Given the description of an element on the screen output the (x, y) to click on. 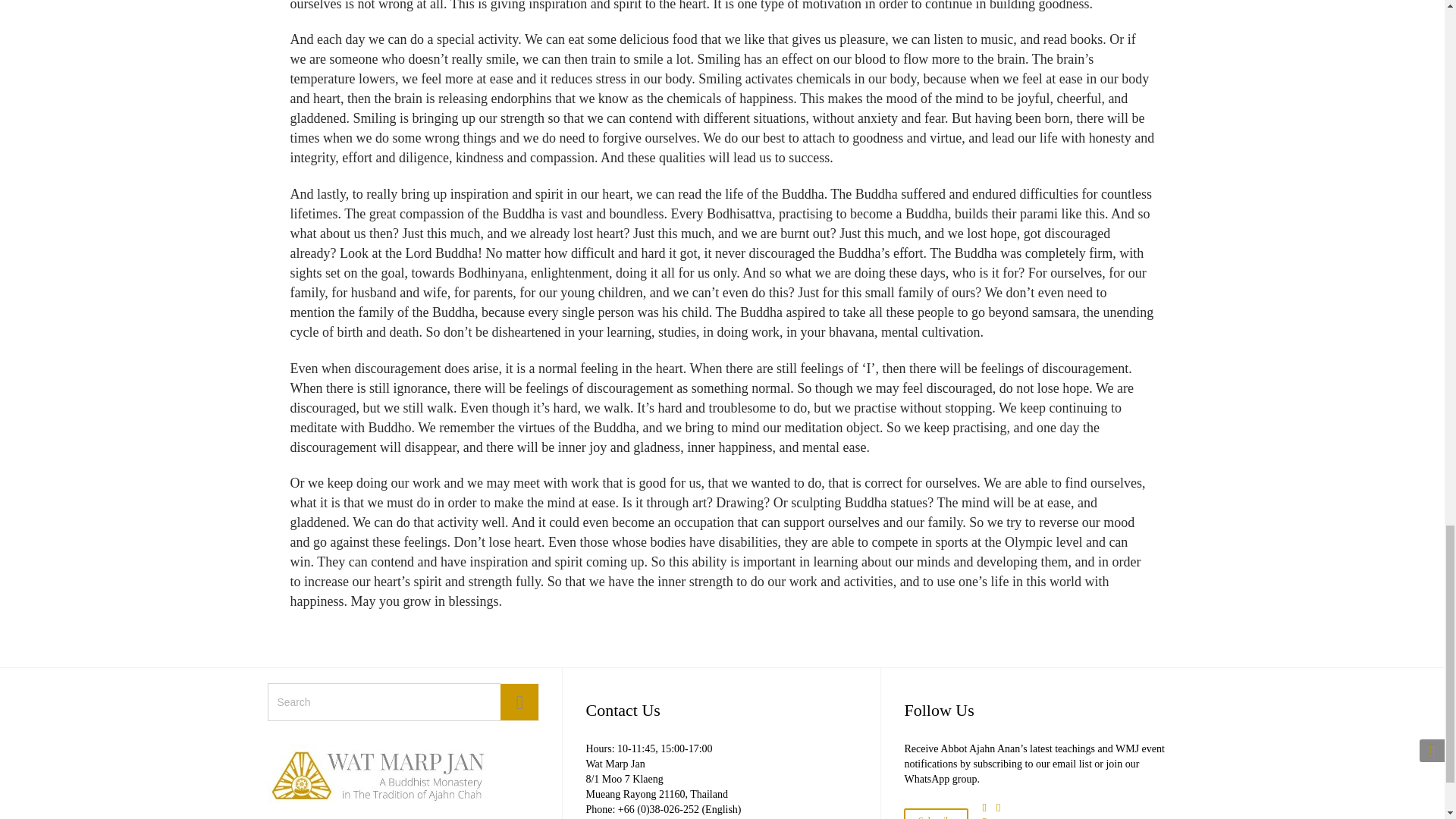
Subscribe (936, 813)
Search (518, 701)
Search (518, 701)
